Given the description of an element on the screen output the (x, y) to click on. 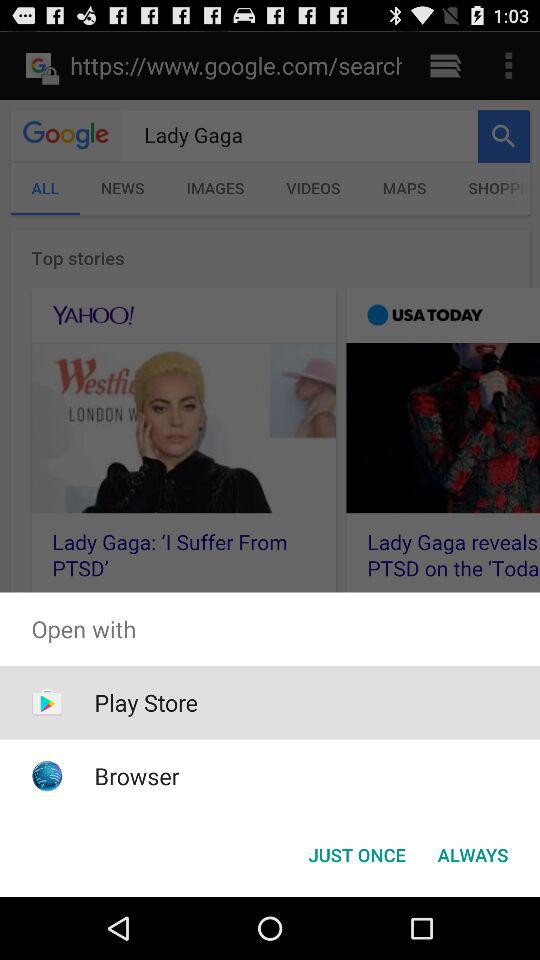
tap the play store app (146, 702)
